Given the description of an element on the screen output the (x, y) to click on. 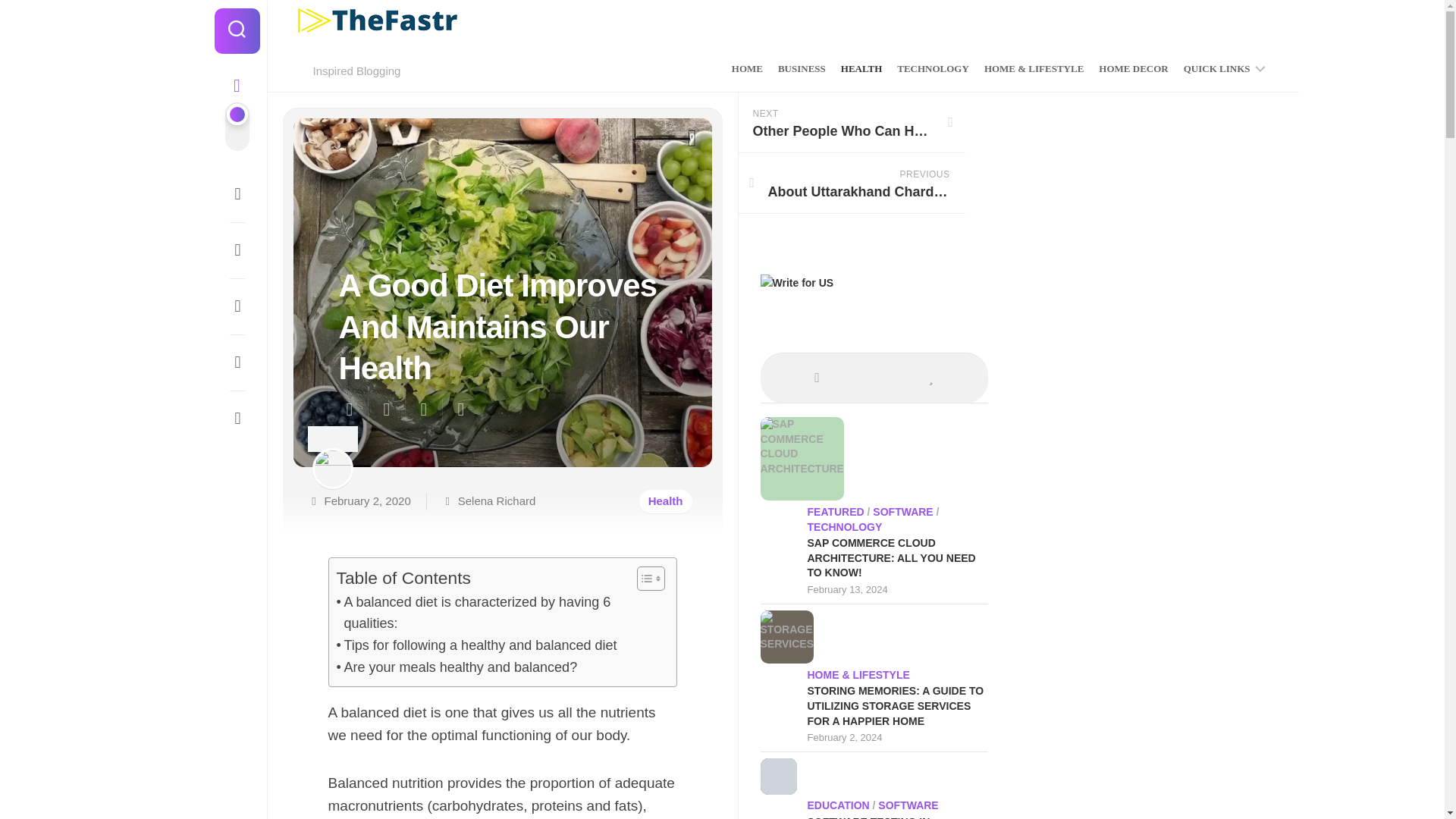
TECHNOLOGY (932, 68)
QUICK LINKS (1216, 68)
A balanced diet is characterized by having 6 qualities: (498, 613)
Tips for following a healthy and balanced diet (476, 645)
Share on LinkedIn (460, 409)
Selena Richard (496, 500)
Are your meals healthy and balanced? (457, 667)
HOME (747, 68)
Recent Posts (816, 376)
Posts by Selena Richard (496, 500)
0 (691, 137)
Share on Pinterest (423, 409)
HEALTH (861, 68)
Share on Facebook (385, 409)
HOME DECOR (1133, 68)
